Given the description of an element on the screen output the (x, y) to click on. 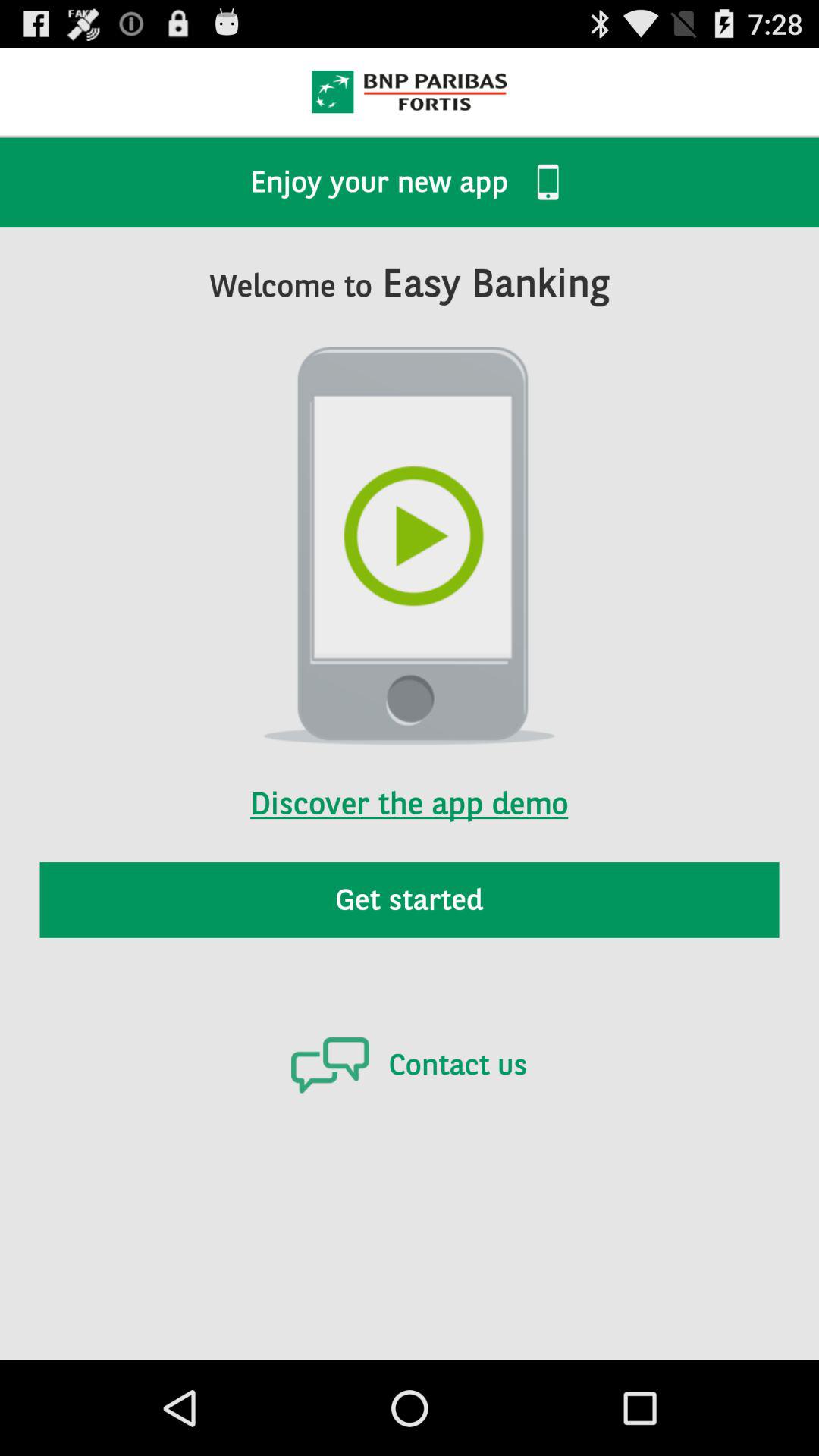
jump to the discover the app icon (409, 783)
